Given the description of an element on the screen output the (x, y) to click on. 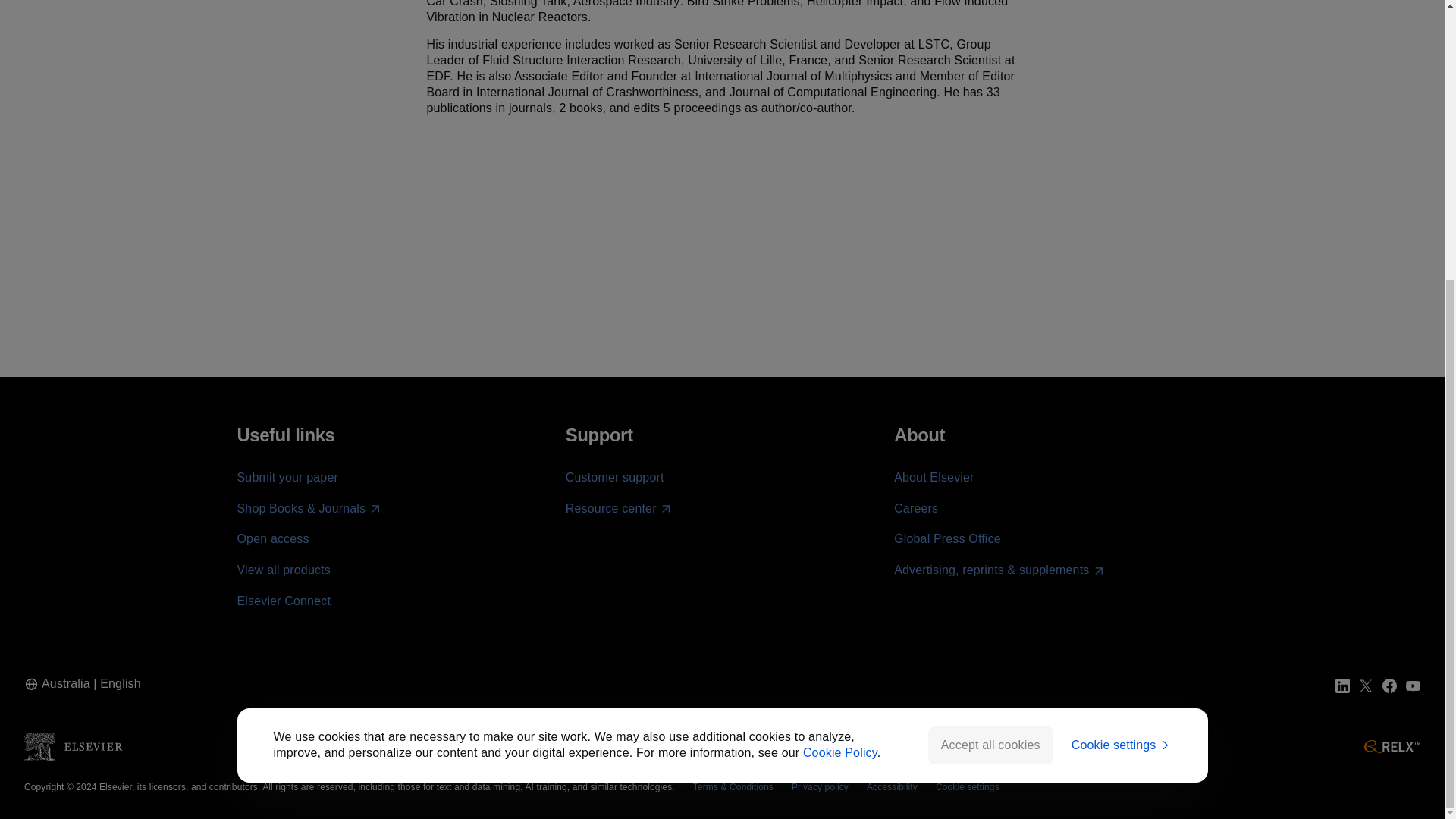
Submit your paper (286, 477)
Customer support (614, 477)
View all products (282, 569)
Open access (271, 538)
Elsevier Connect (282, 600)
Resource center (618, 508)
Accept all cookies (990, 328)
About Elsevier (933, 477)
Cookie settings (1121, 328)
Careers (915, 508)
Cookie Policy (840, 335)
Global Press Office (947, 538)
